Given the description of an element on the screen output the (x, y) to click on. 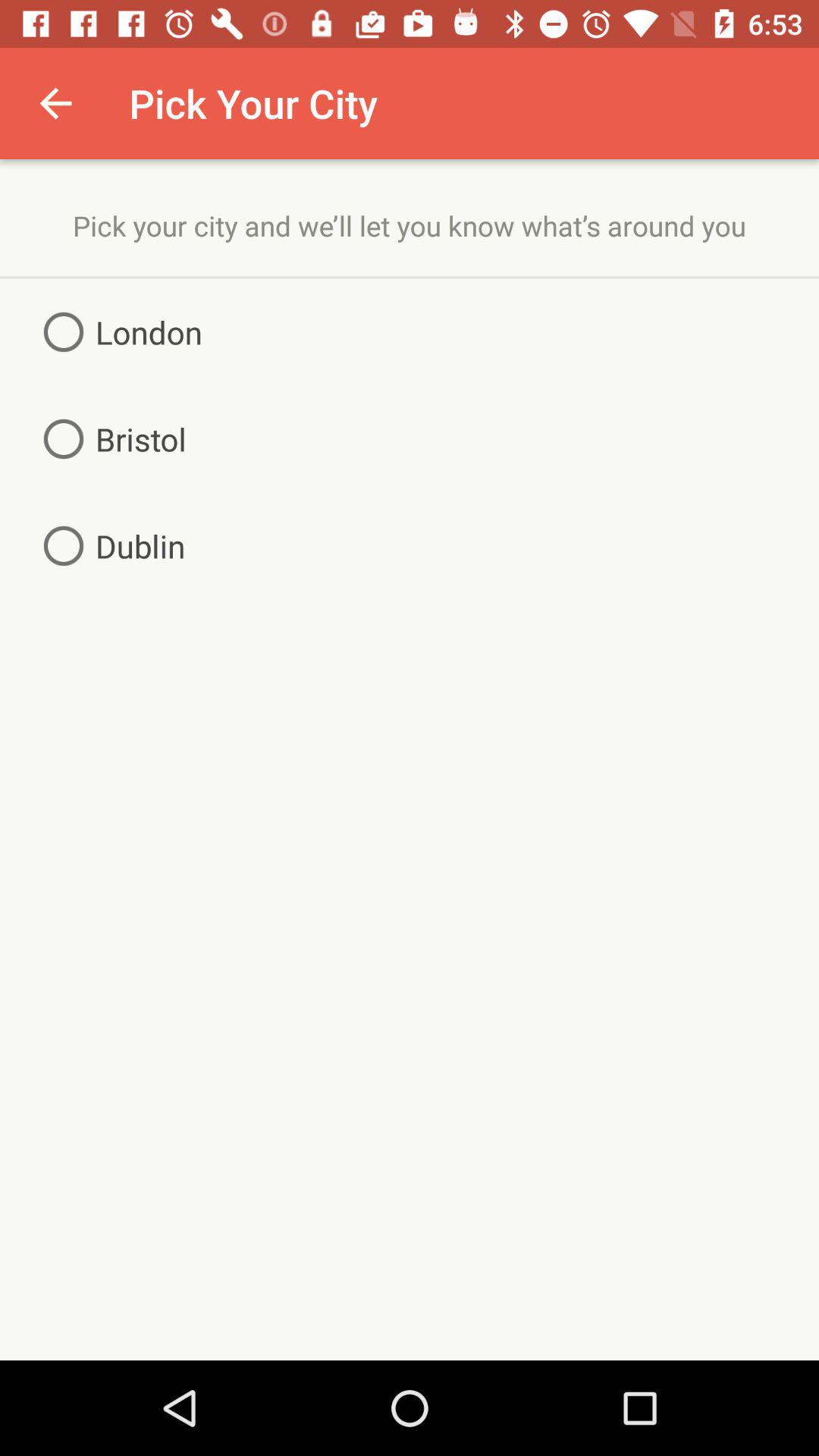
open icon below bristol item (108, 545)
